Given the description of an element on the screen output the (x, y) to click on. 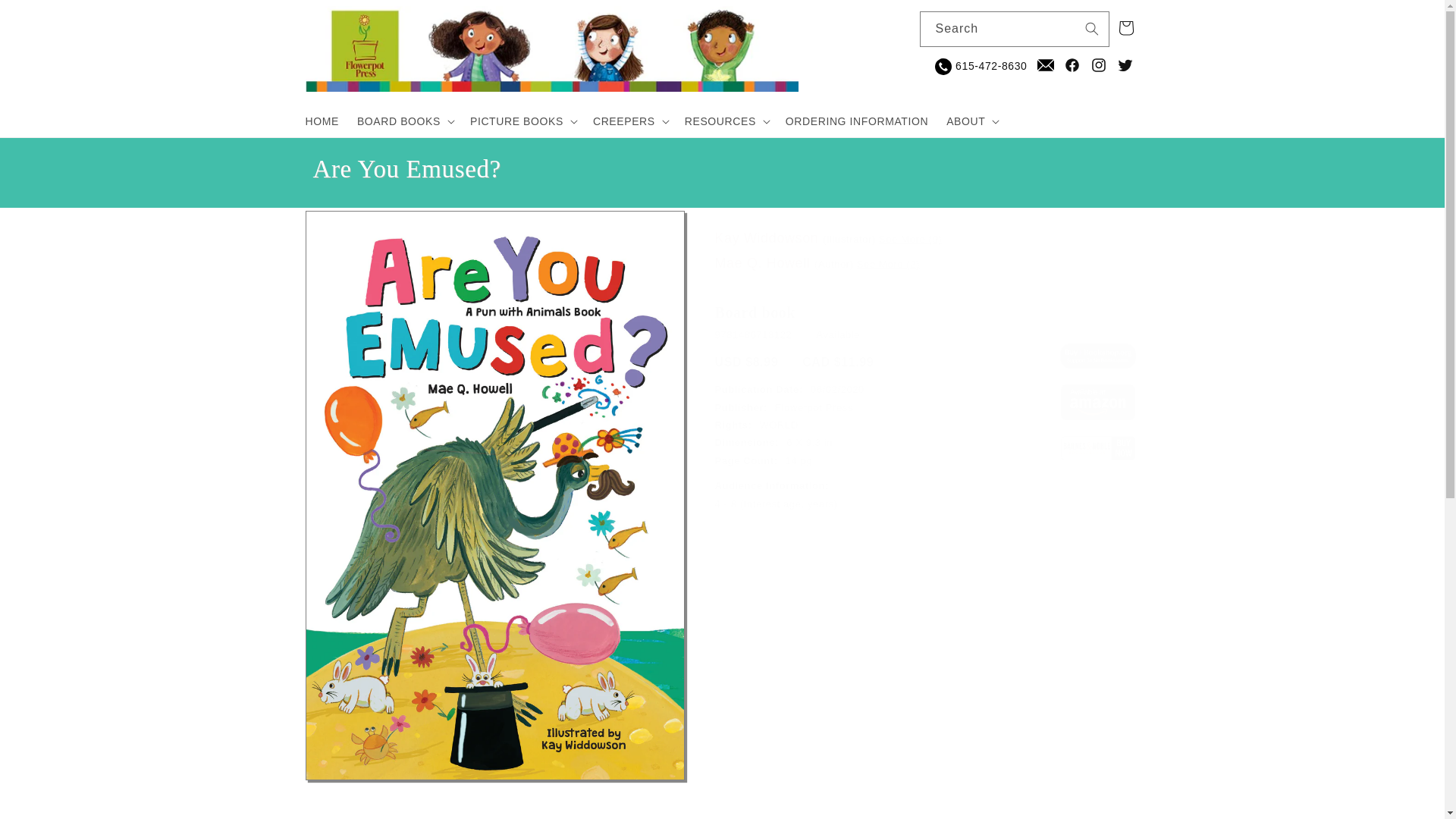
Skip to content (45, 17)
HOME (321, 121)
